Given the description of an element on the screen output the (x, y) to click on. 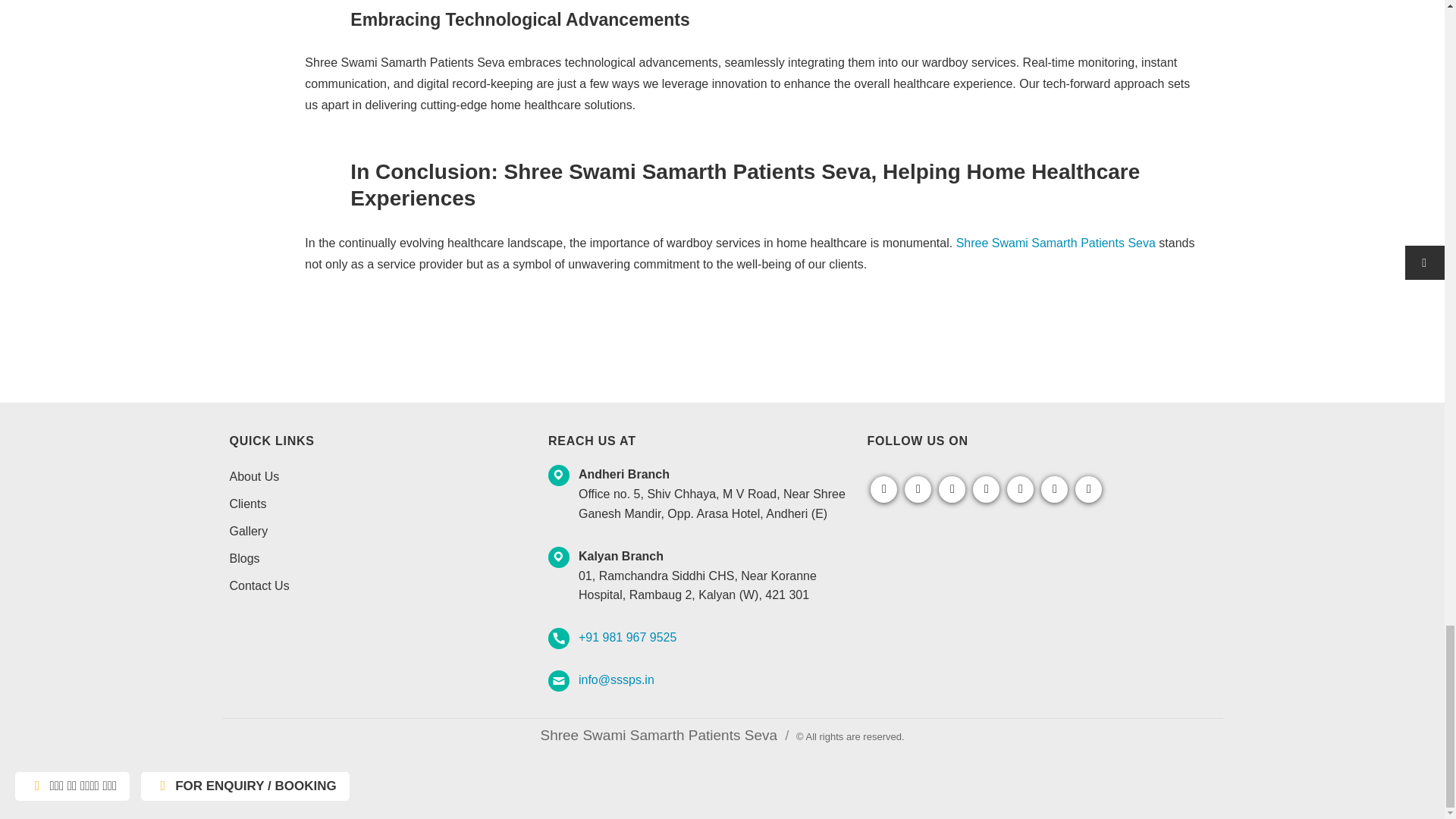
About Us (253, 476)
Shree Swami Samarth Patients Seva (1057, 242)
